Given the description of an element on the screen output the (x, y) to click on. 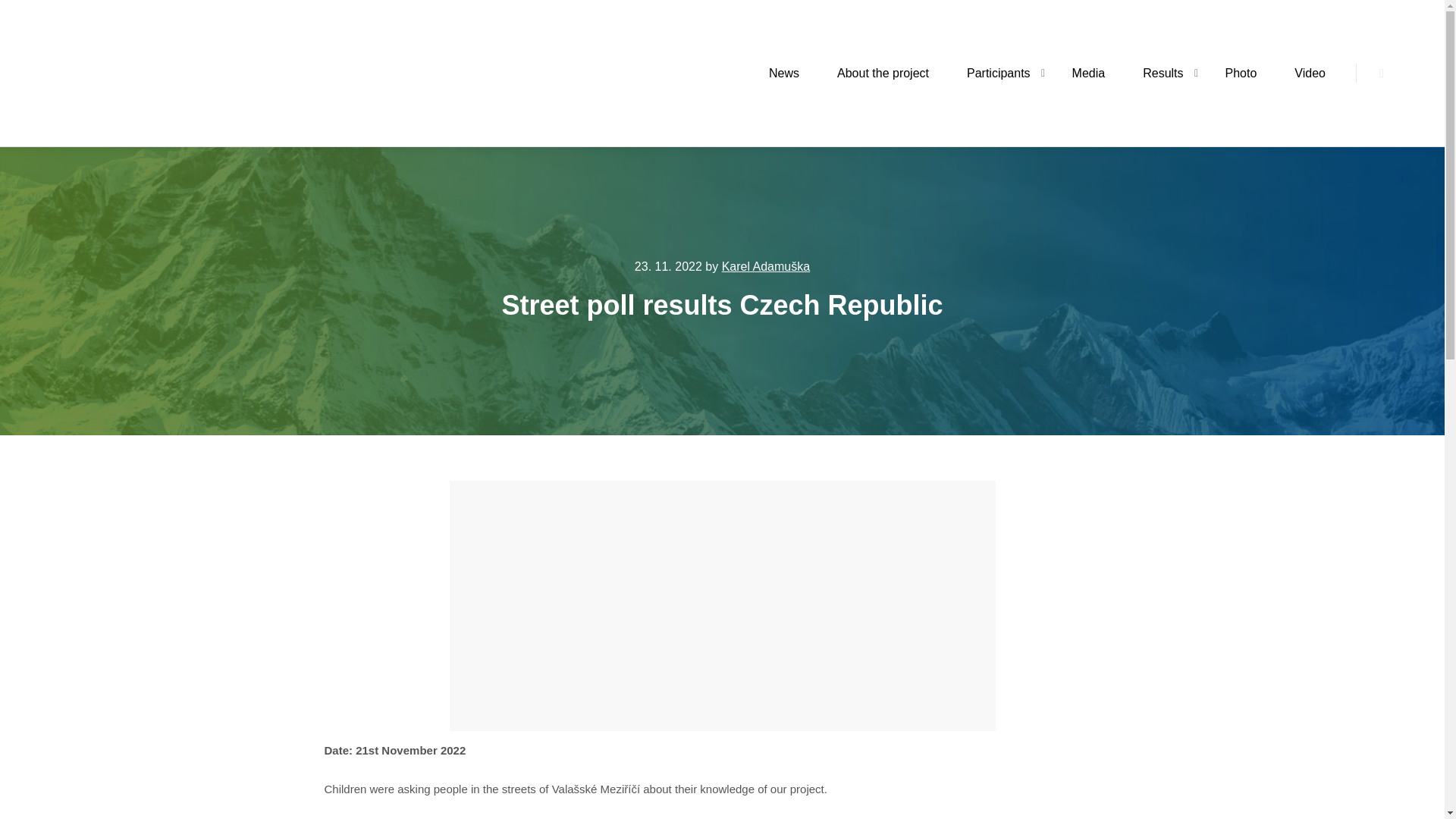
Hiking, Explore And Learn! (188, 73)
Search (1381, 73)
Search (1381, 73)
